Given the description of an element on the screen output the (x, y) to click on. 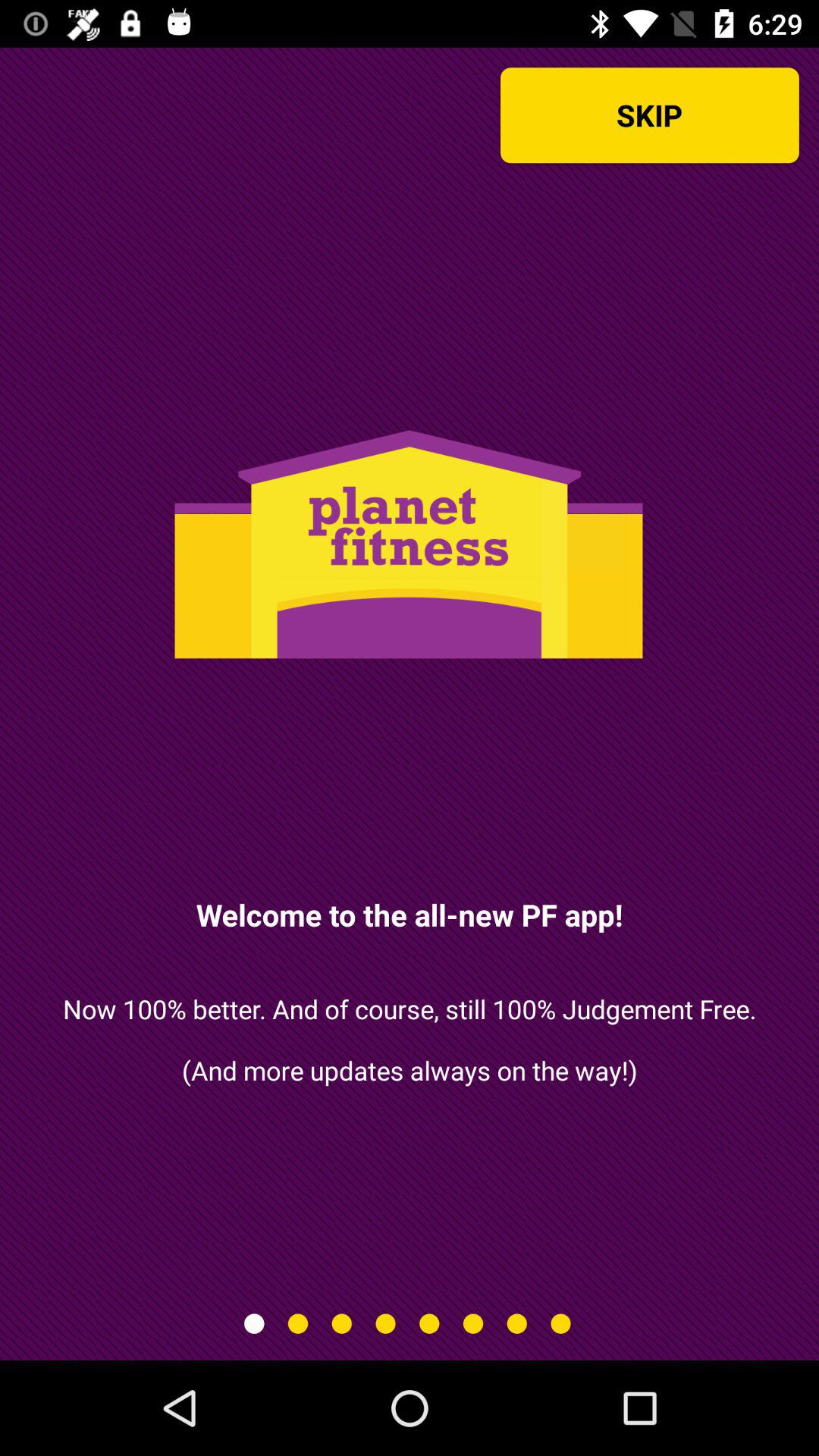
swipe until skip icon (649, 115)
